Given the description of an element on the screen output the (x, y) to click on. 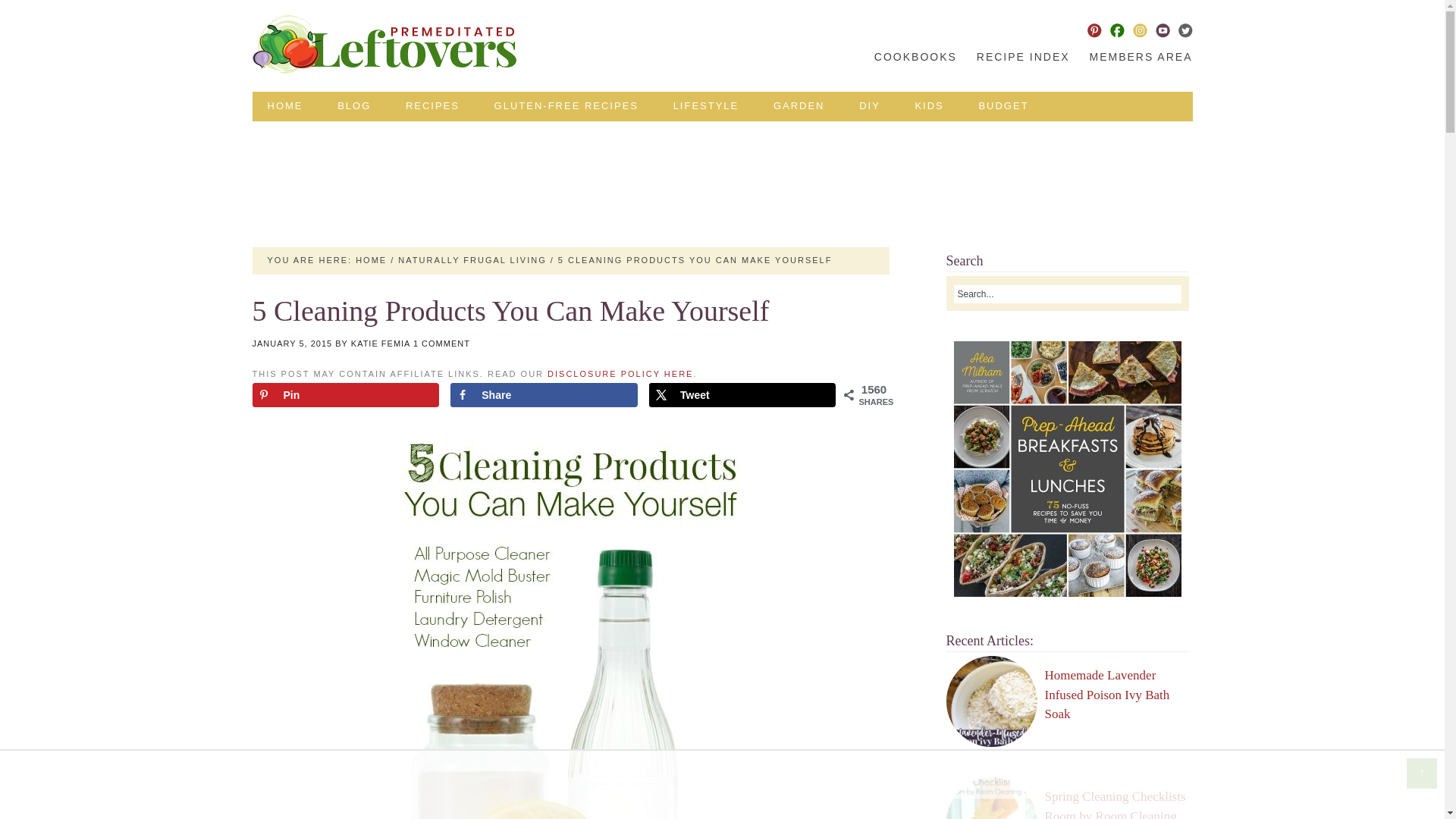
Spring Cleaning Checklists Room by Room Cleaning Tips (1115, 799)
KIDS (928, 106)
RECIPES (432, 106)
Share on X (742, 395)
RECIPE INDEX (1023, 56)
COOKBOOKS (914, 56)
HOME (284, 106)
GLUTEN-FREE RECIPES (566, 106)
HOME (371, 259)
DIY (869, 106)
Save to Pinterest (344, 395)
LIFESTYLE (706, 106)
Homemade Lavender Infused Poison Ivy Bath Soak (1107, 694)
